Given the description of an element on the screen output the (x, y) to click on. 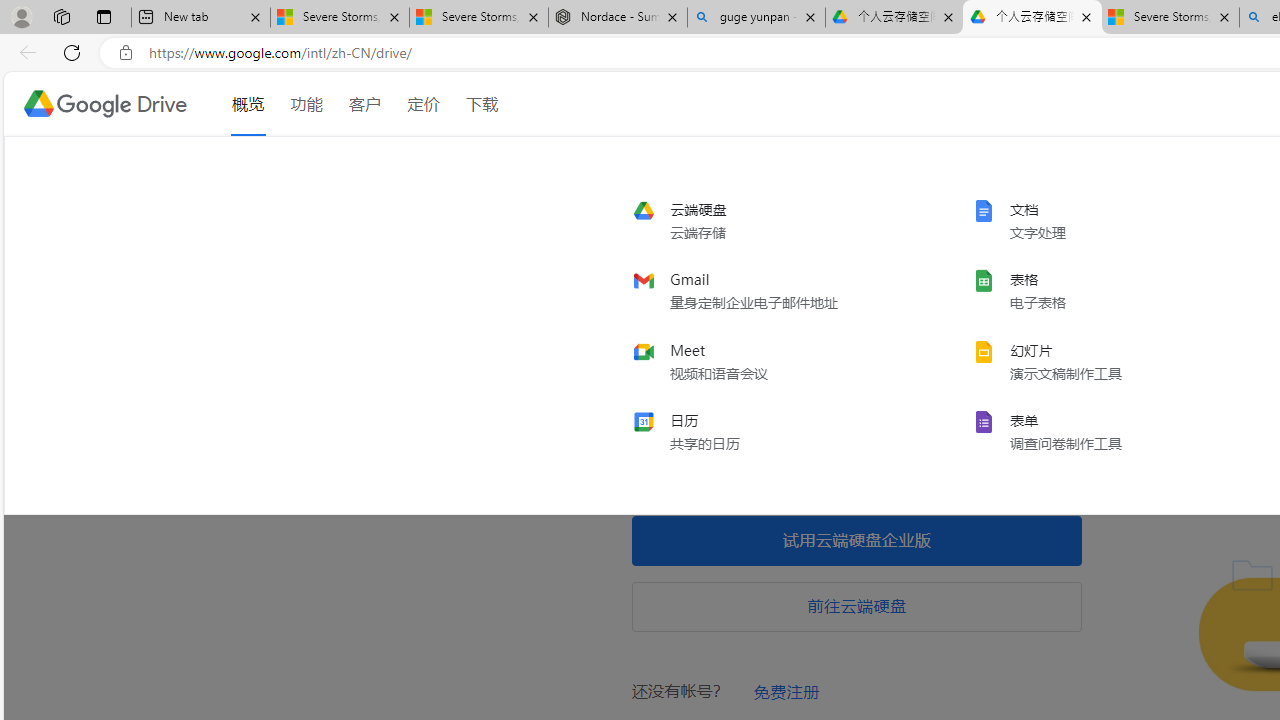
gmail (765, 291)
